Given the description of an element on the screen output the (x, y) to click on. 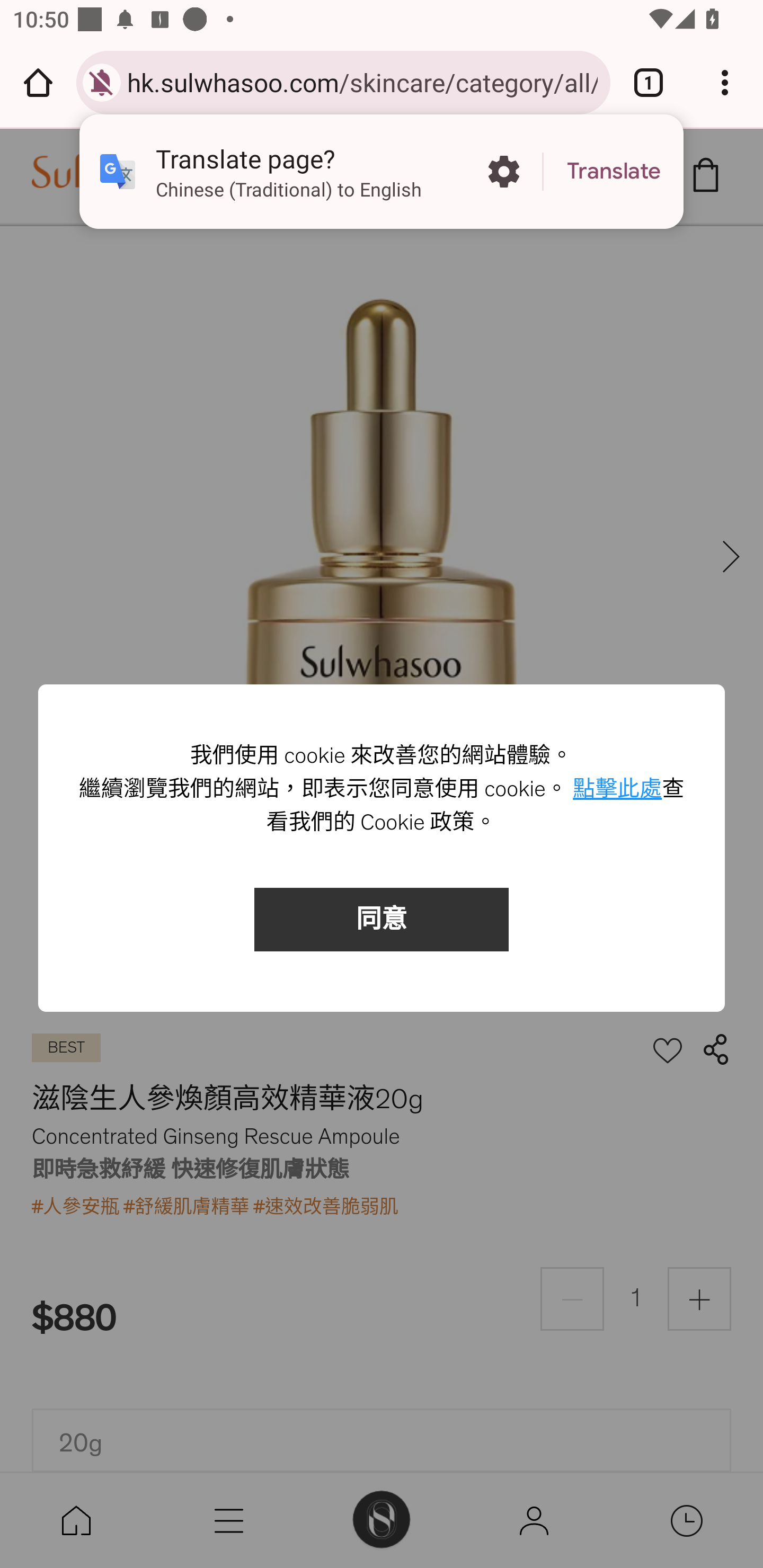
Open the home page (38, 82)
Connection is secure (101, 82)
Switch or close tabs (648, 82)
Customize and control Google Chrome (724, 82)
Translate (613, 171)
More options in the Translate page? (503, 171)
點擊此處 (617, 789)
同意 (381, 919)
